Given the description of an element on the screen output the (x, y) to click on. 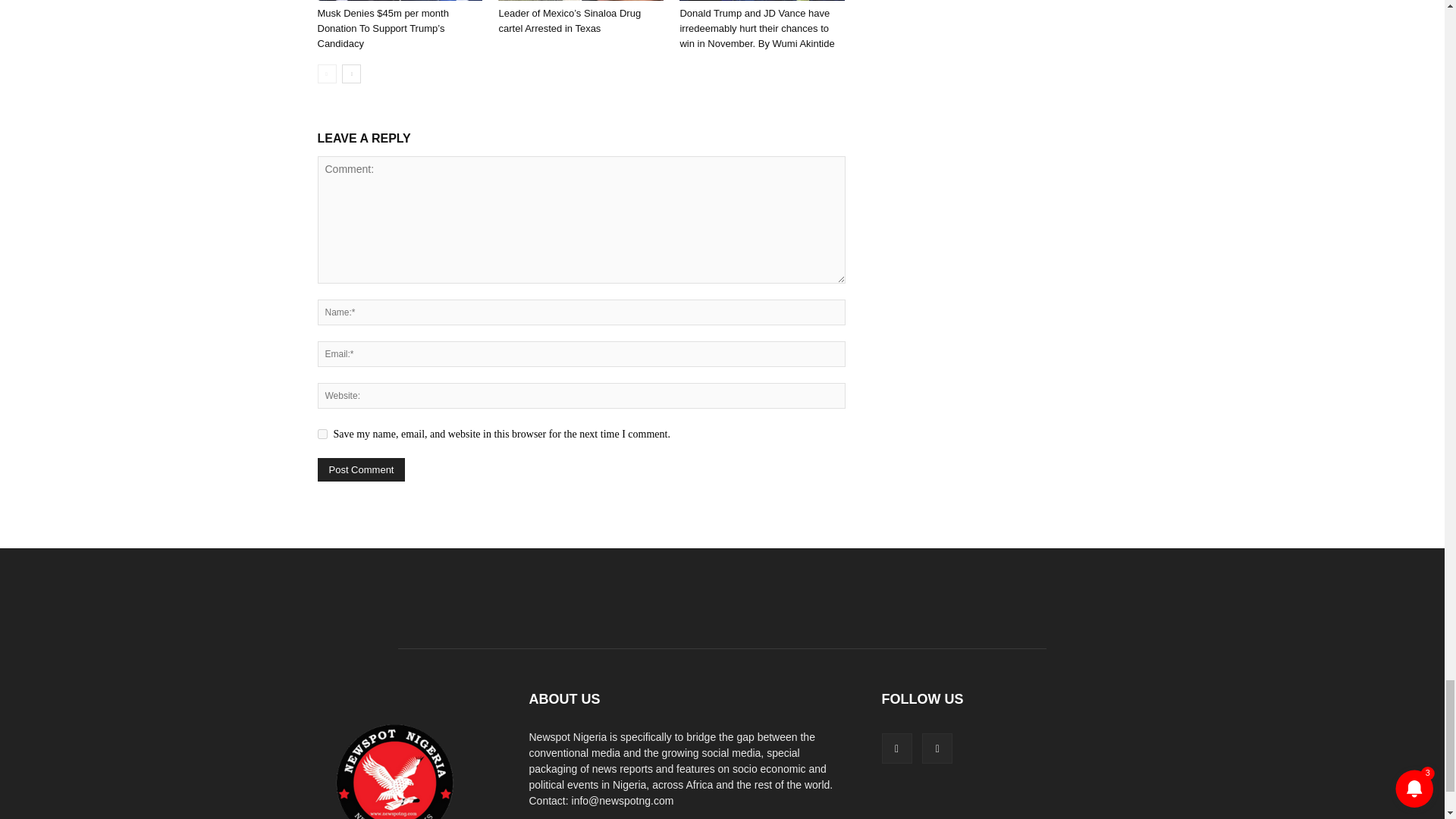
yes (321, 433)
Post Comment (360, 469)
